Given the description of an element on the screen output the (x, y) to click on. 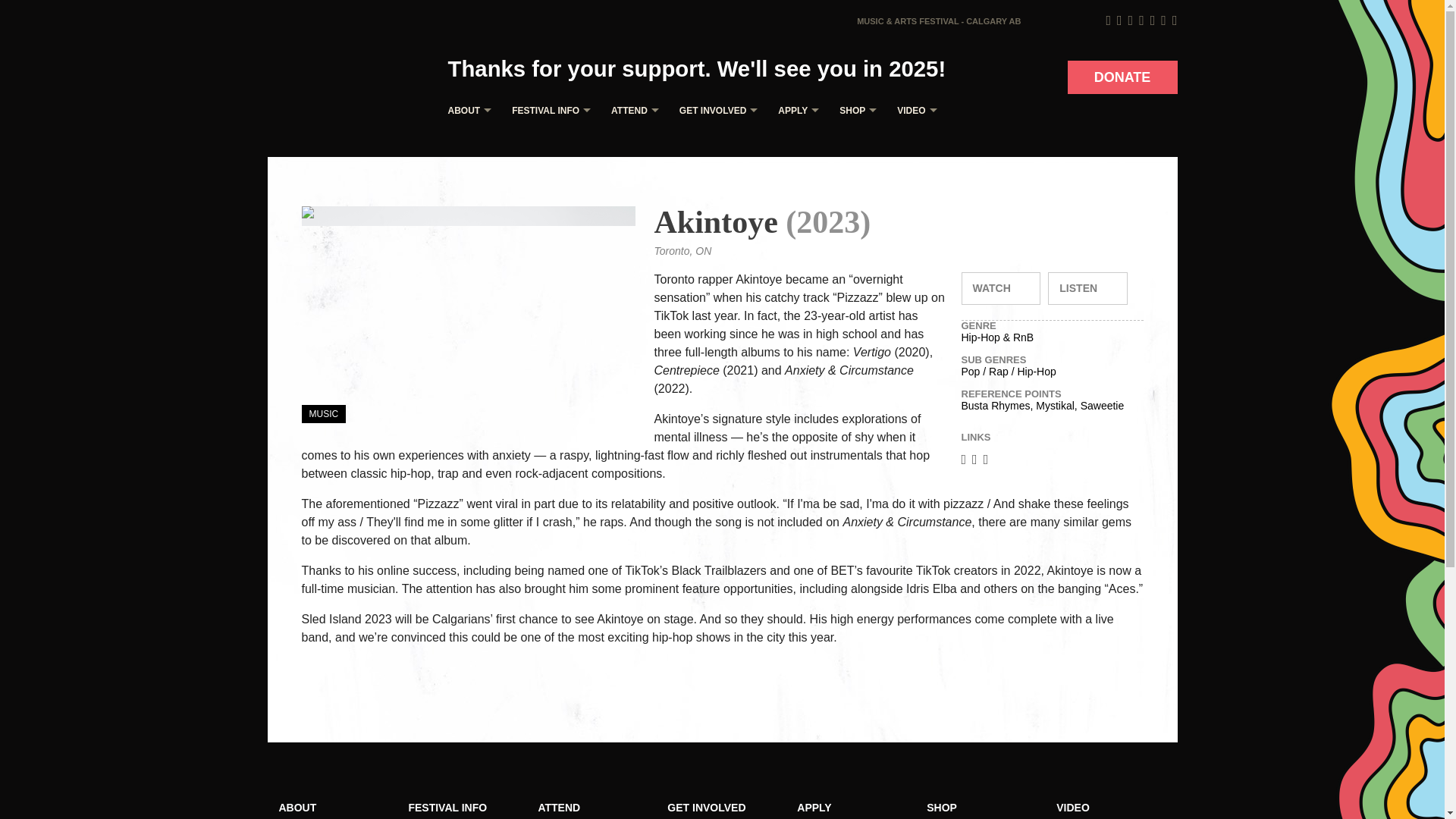
SHOP (854, 110)
APPLY (794, 110)
FESTIVAL INFO (546, 110)
ATTEND (630, 110)
GET INVOLVED (714, 110)
Akintoye video (1000, 287)
DONATE (1122, 77)
ABOUT (465, 110)
